Given the description of an element on the screen output the (x, y) to click on. 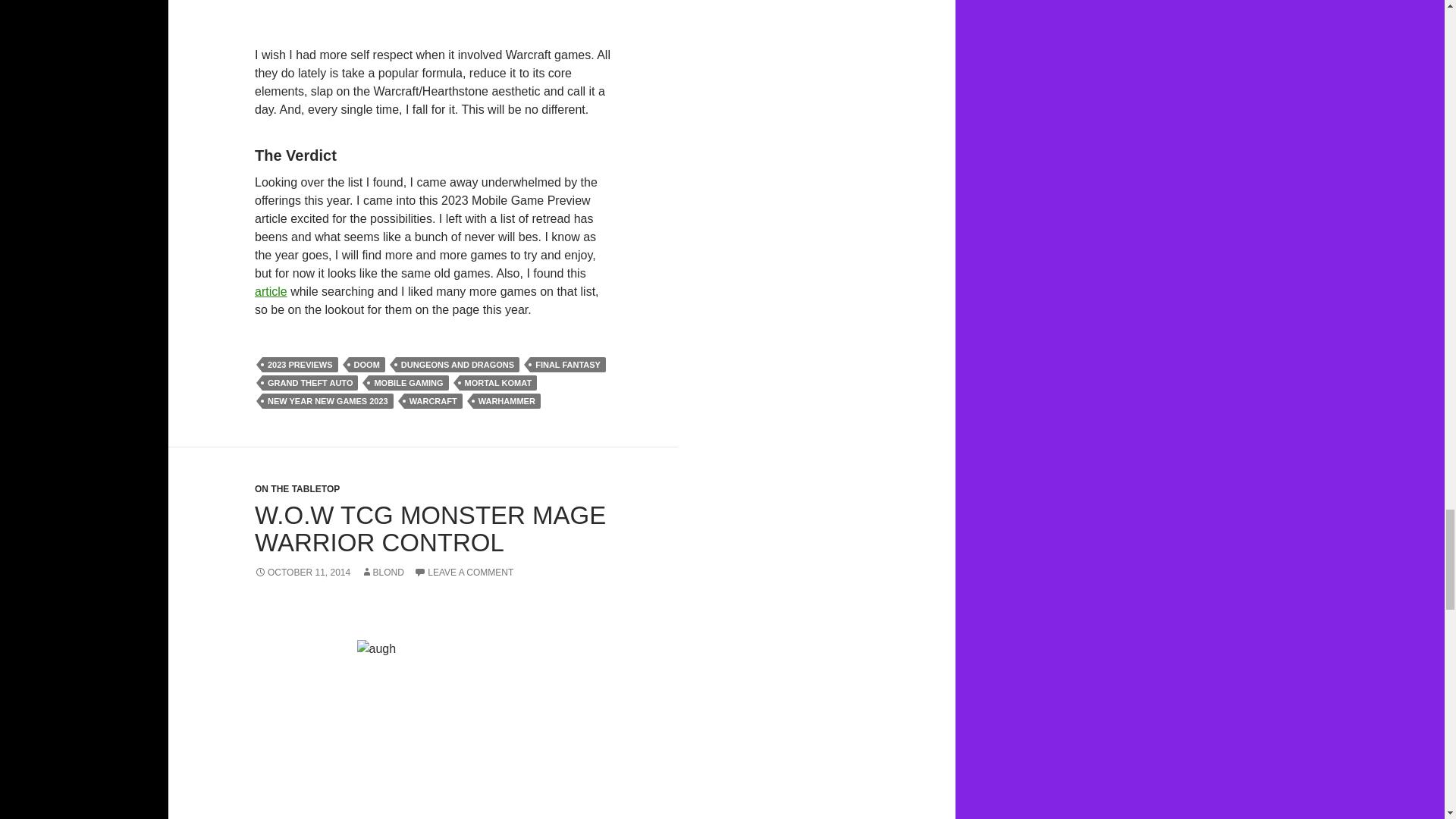
article (270, 291)
2023 PREVIEWS (299, 364)
DOOM (367, 364)
